Given the description of an element on the screen output the (x, y) to click on. 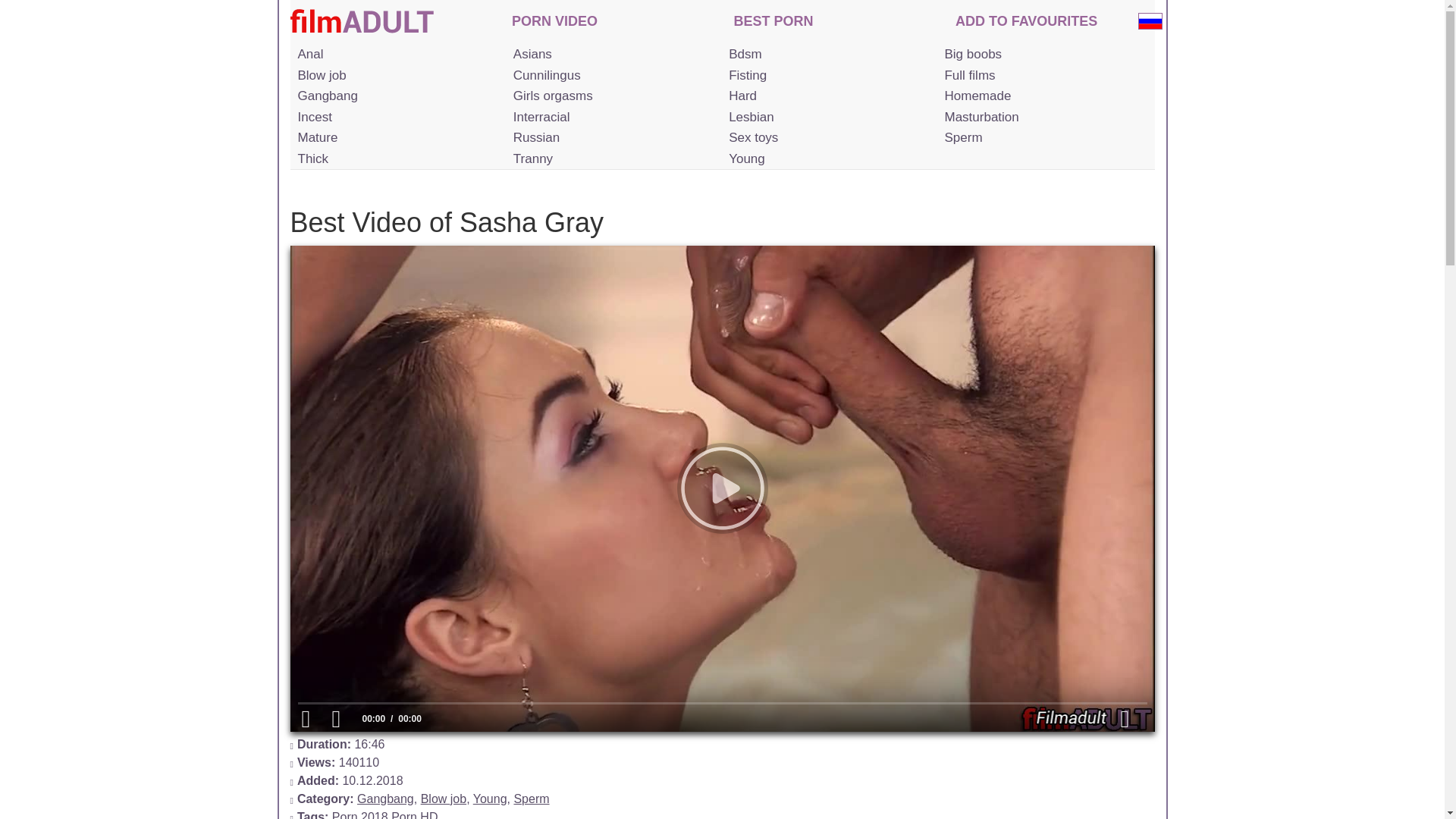
Masturbation (1042, 116)
Girls orgasms (611, 96)
Full films (1042, 75)
Porn with group sex and orgies (395, 96)
Gangbang (384, 798)
BEST PORN (773, 22)
Mature (395, 137)
Lesbian porn (826, 116)
Sex toys (826, 137)
Asians (611, 54)
The best porn videos for free (773, 22)
Tranny (611, 158)
Interracial porn, sex with blacks (611, 116)
Anal sex porn (395, 54)
